Given the description of an element on the screen output the (x, y) to click on. 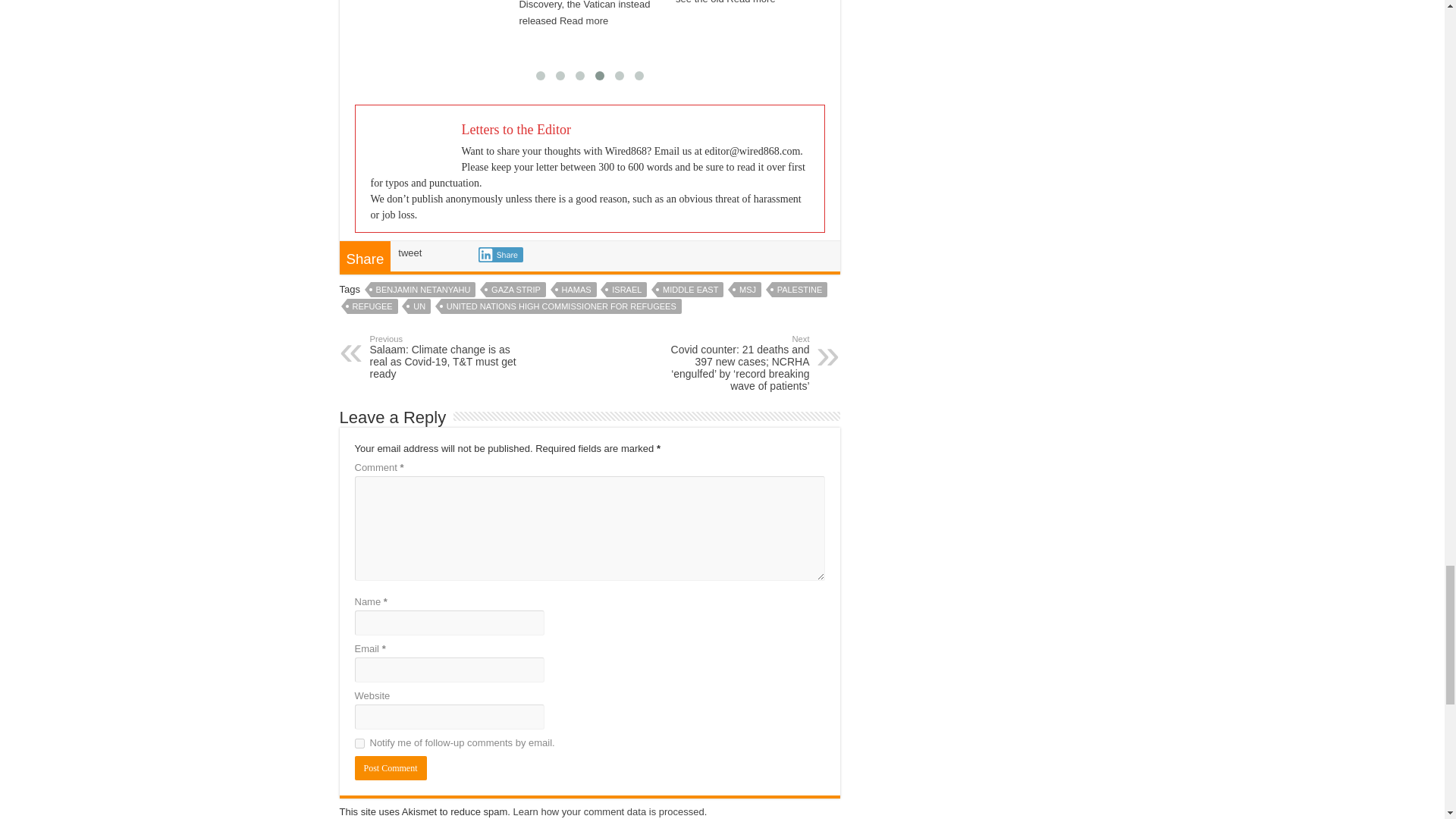
Post Comment (390, 767)
subscribe (360, 743)
